Given the description of an element on the screen output the (x, y) to click on. 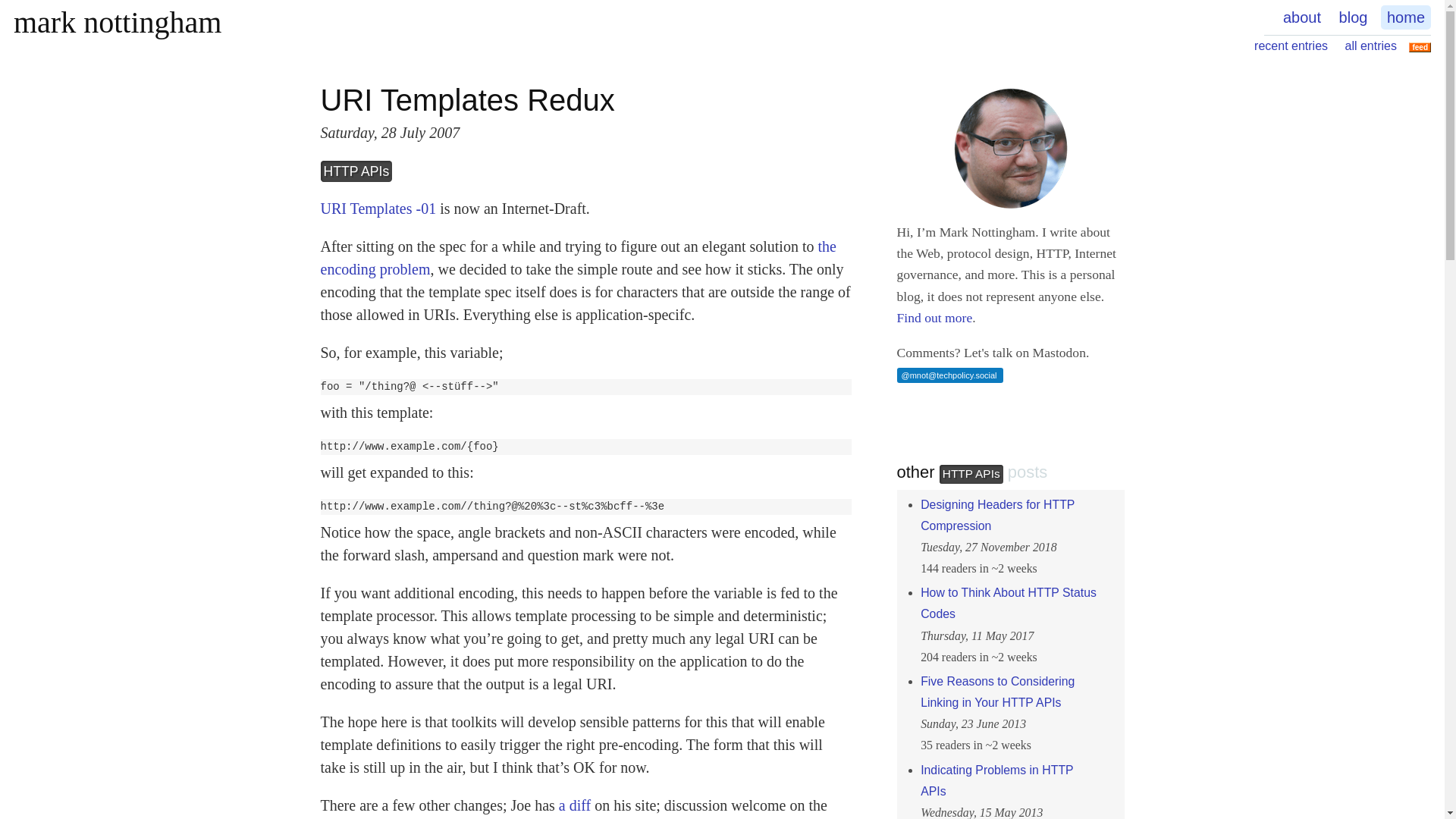
a diff (575, 805)
HTTP APIs (355, 170)
URI Templates -01 (377, 208)
